Given the description of an element on the screen output the (x, y) to click on. 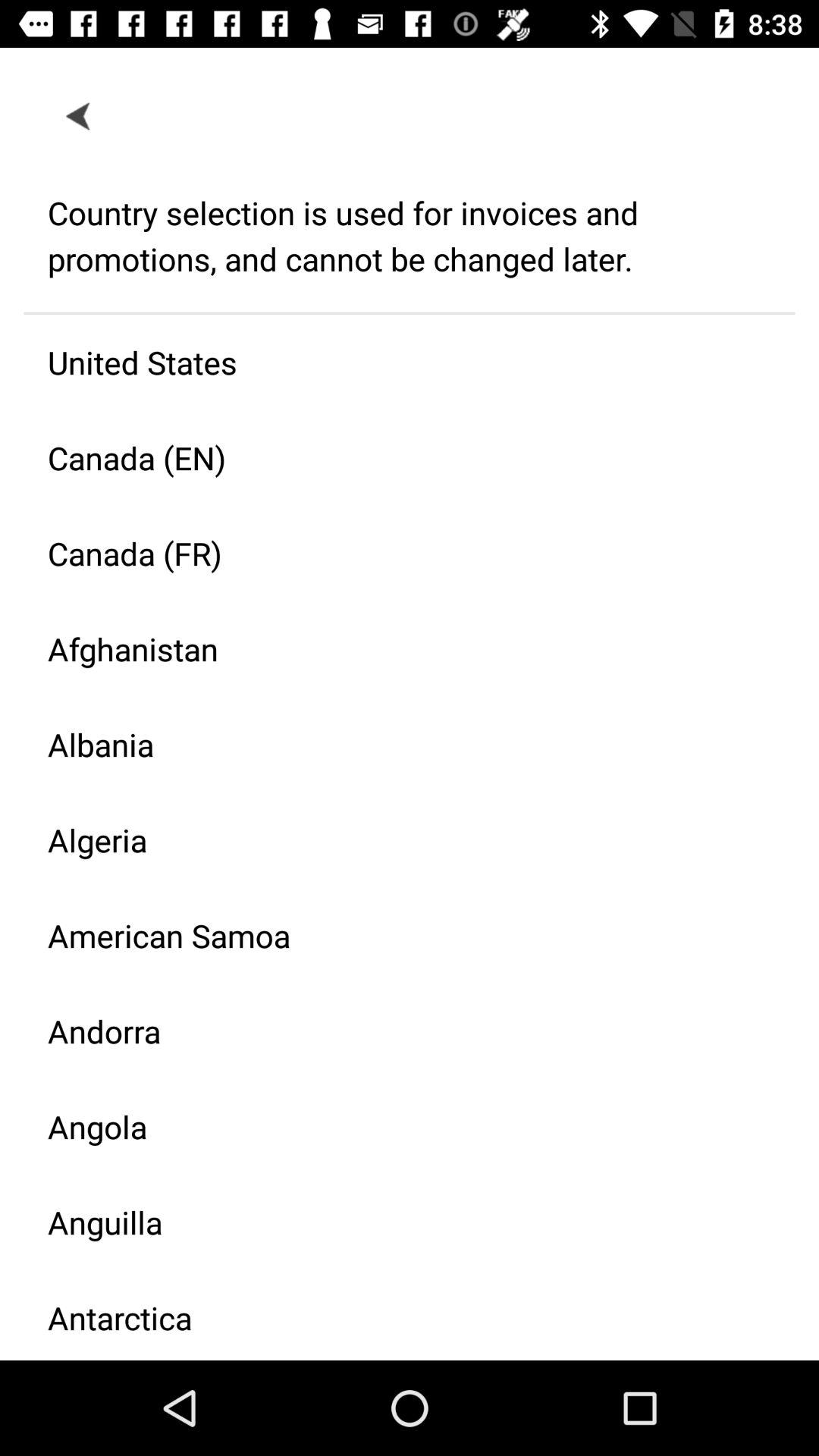
turn on the item above the canada (fr) item (397, 457)
